Given the description of an element on the screen output the (x, y) to click on. 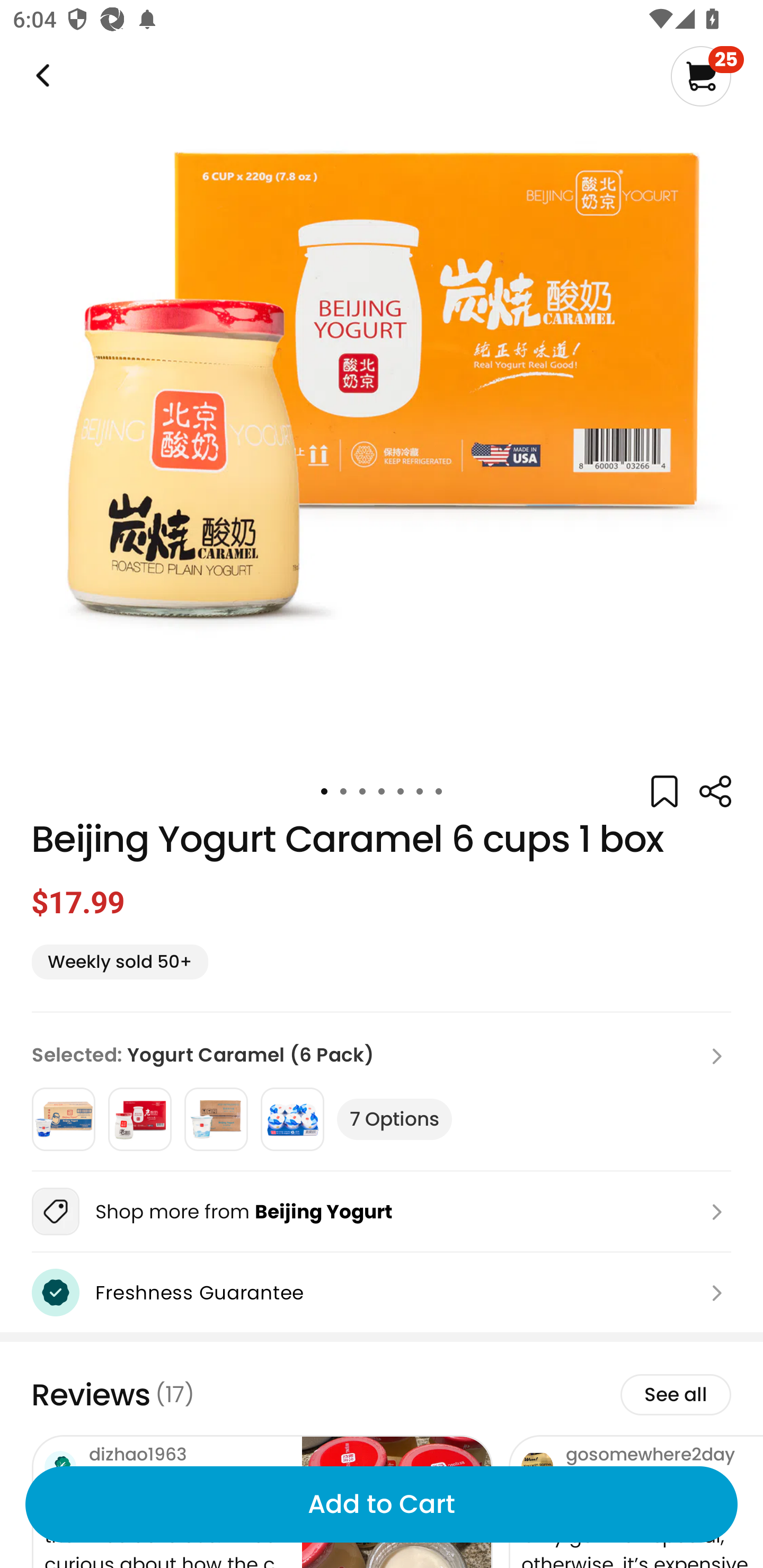
Weee! (41, 75)
25 (706, 75)
Weee! (714, 791)
Selected: Yogurt Caramel (6 Pack) 7 Options (381, 1090)
Shop more from Beijing Yogurt Weee! (381, 1211)
Freshness Guarantee (381, 1292)
Reviews (17) See all (381, 1394)
Add to Cart (381, 1504)
Add to Cart (381, 1504)
